Given the description of an element on the screen output the (x, y) to click on. 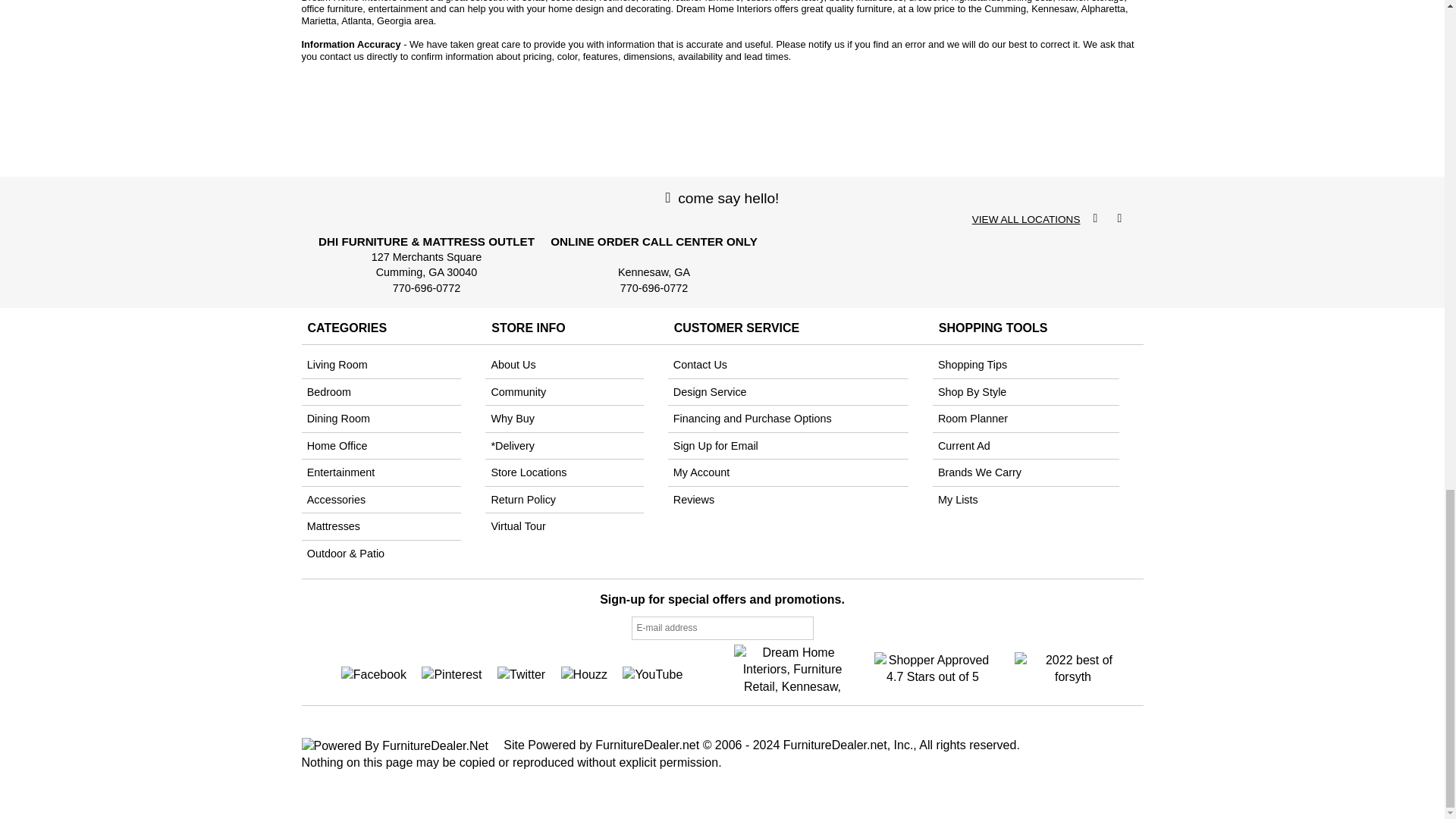
Dream Home Interiors, Furniture  Retail, Kennesaw, GA (792, 667)
